Given the description of an element on the screen output the (x, y) to click on. 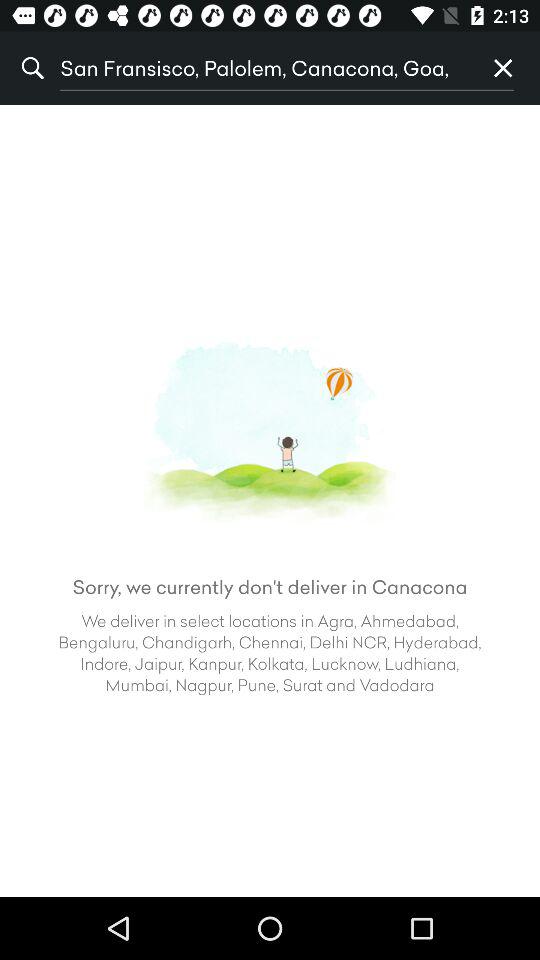
open the icon next to the san fransisco palolem item (503, 68)
